Given the description of an element on the screen output the (x, y) to click on. 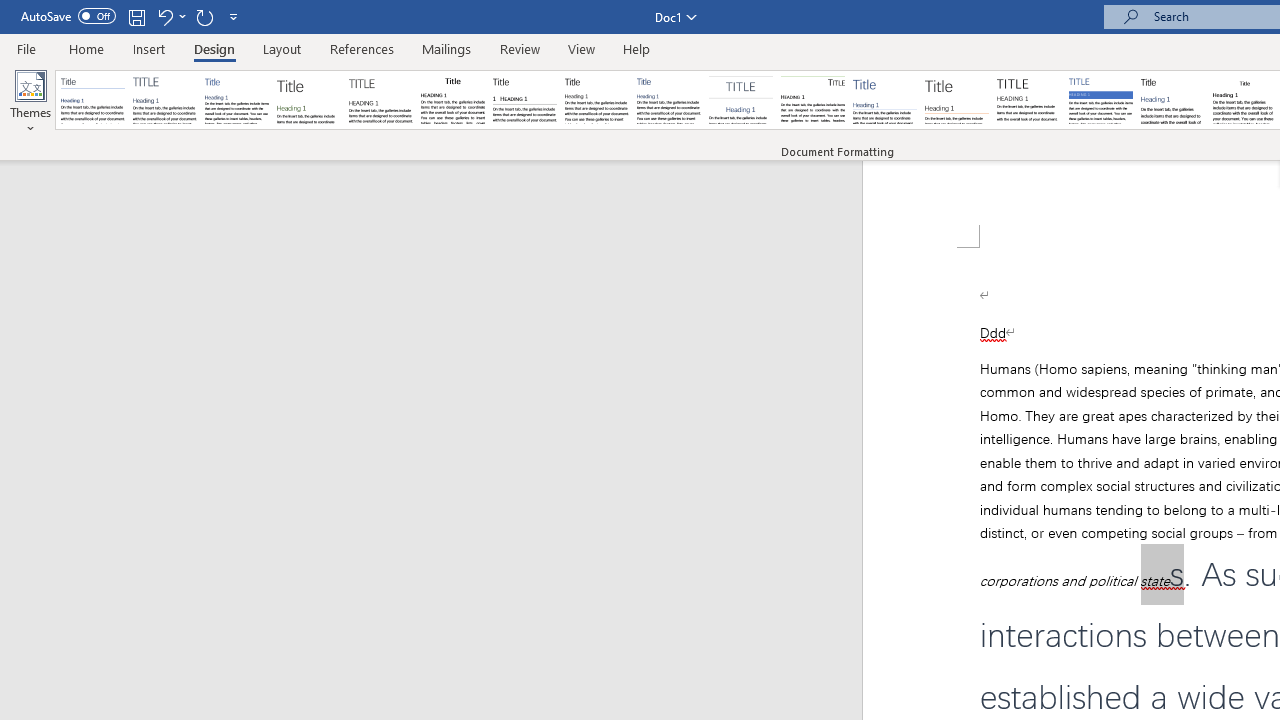
Lines (Simple) (884, 100)
Black & White (Numbered) (524, 100)
Shaded (1100, 100)
Document (93, 100)
Undo Apply Quick Style Set (170, 15)
Themes (30, 102)
Basic (Elegant) (164, 100)
Undo Apply Quick Style Set (164, 15)
Minimalist (1028, 100)
Repeat Accessibility Checker (204, 15)
Black & White (Capitalized) (381, 100)
